Given the description of an element on the screen output the (x, y) to click on. 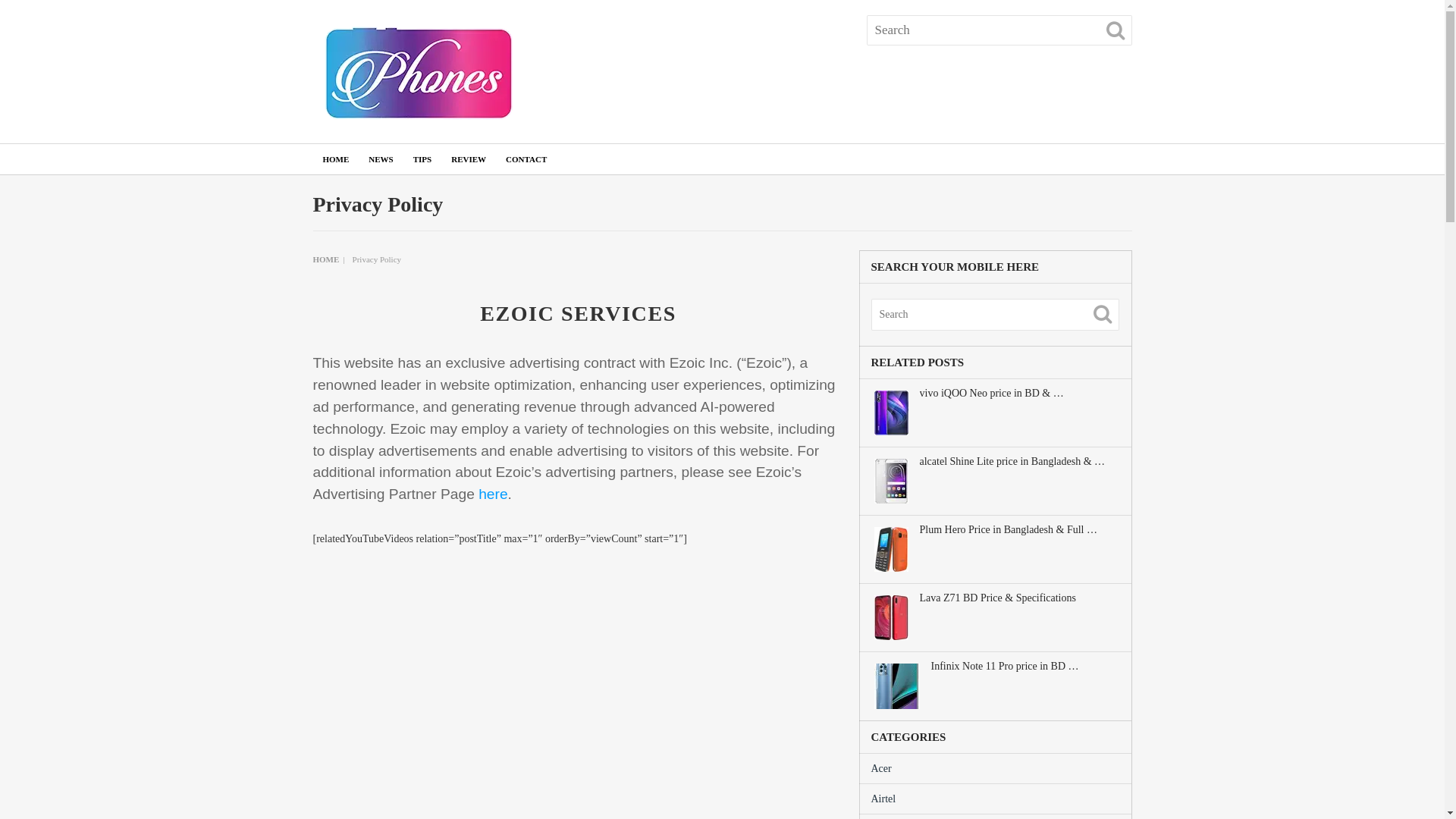
HOME Element type: text (335, 159)
HOME Element type: text (325, 258)
here Element type: text (492, 494)
Lava Z71 BD Price & Specifications Element type: text (1017, 598)
TIPS Element type: text (422, 159)
REVIEW Element type: text (468, 159)
NEWS Element type: text (380, 159)
Airtel Element type: text (882, 798)
Acer Element type: text (880, 768)
CONTACT Element type: text (525, 159)
